Given the description of an element on the screen output the (x, y) to click on. 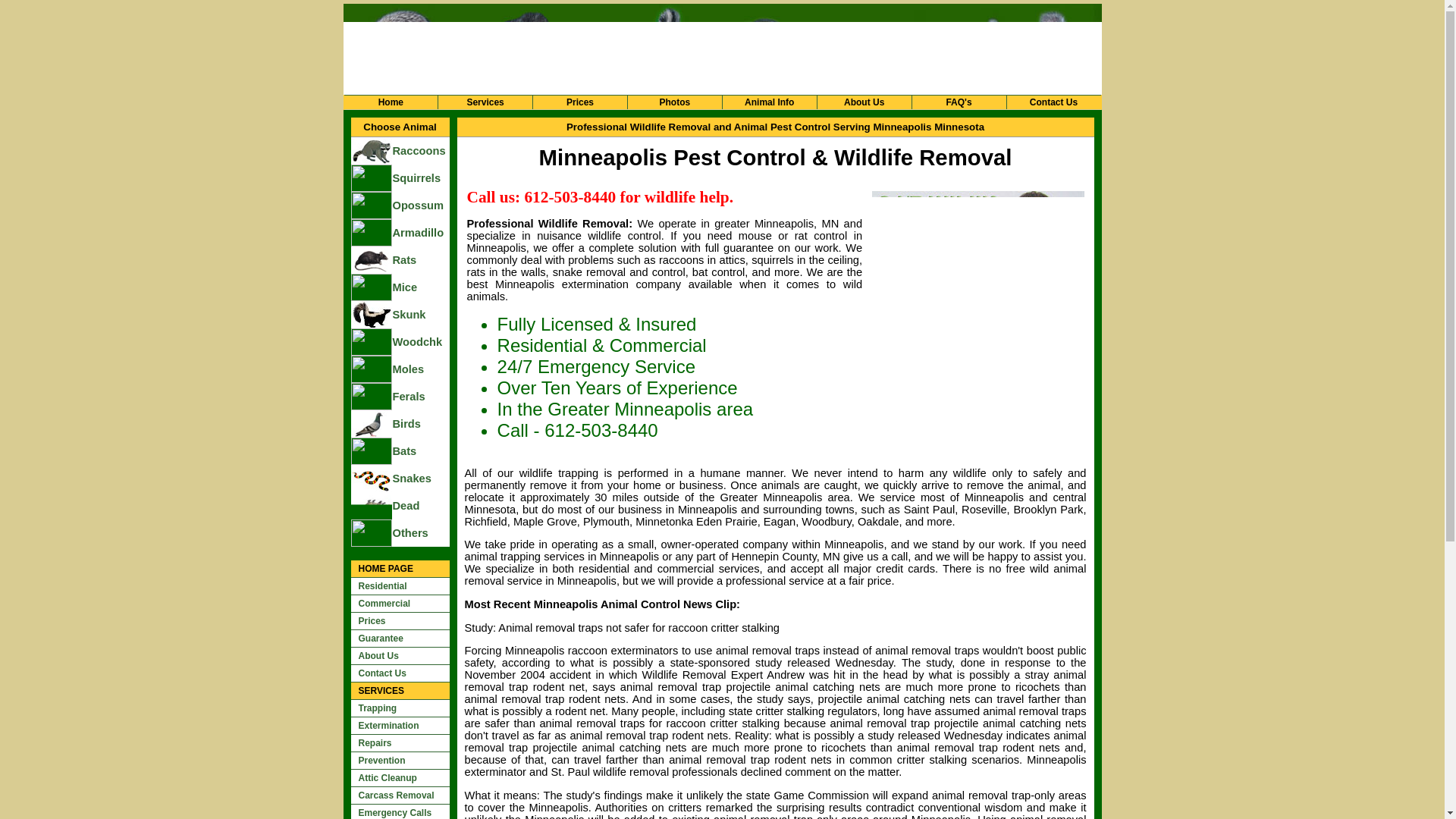
Rats (419, 259)
Moles (419, 369)
Home (390, 101)
HOME PAGE (399, 569)
Bats (419, 451)
Dead (419, 505)
Services (484, 101)
Animal Info (770, 101)
Contact Us (1054, 101)
Others (419, 532)
Skunk (419, 314)
Photos (675, 101)
Prices (579, 101)
FAQ's (959, 101)
Ferals (419, 396)
